Given the description of an element on the screen output the (x, y) to click on. 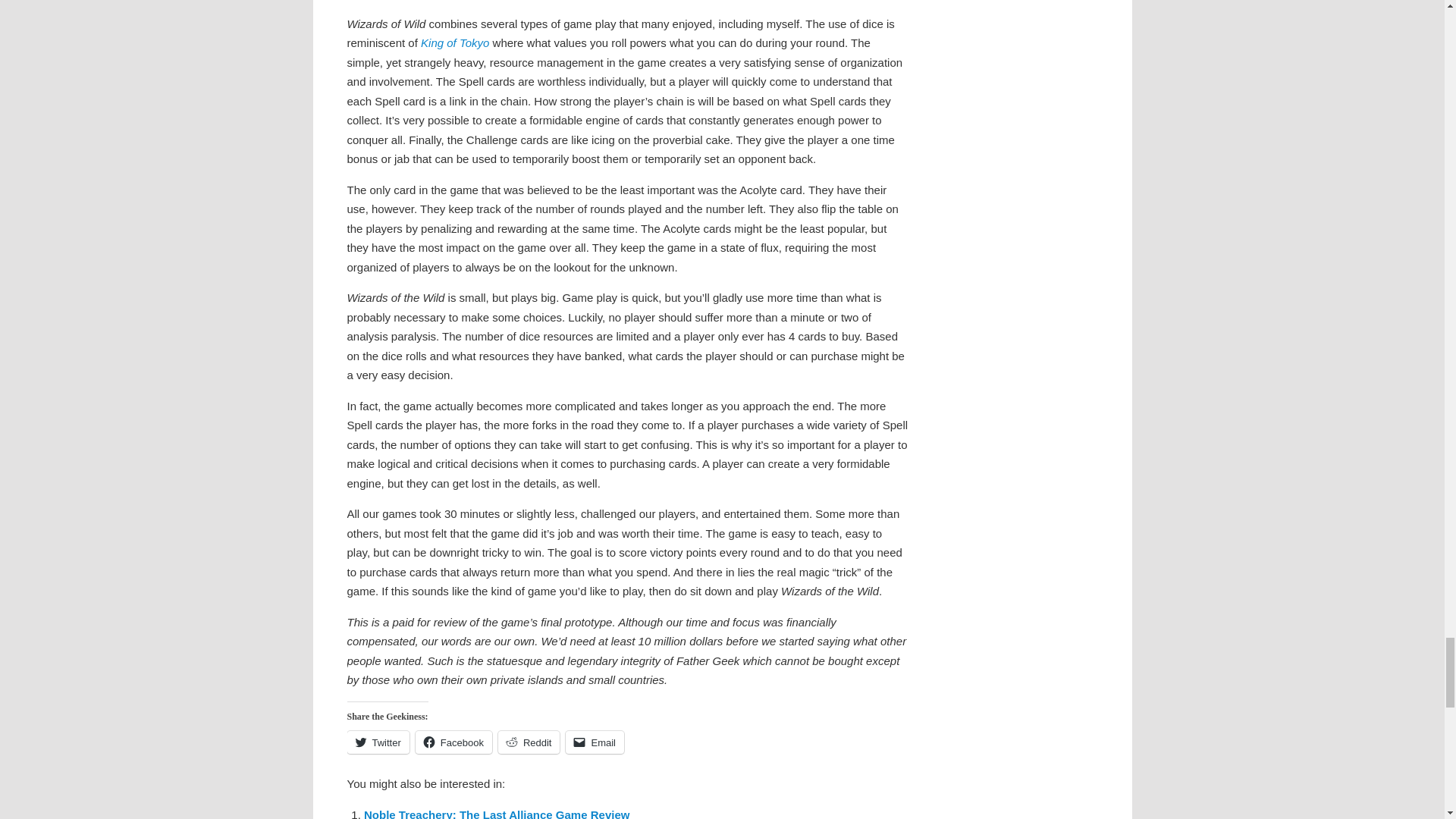
Click to share on Reddit (528, 742)
Click to share on Twitter (378, 742)
Click to share on Facebook (453, 742)
Click to email a link to a friend (595, 742)
Noble Treachery: The Last Alliance Game Review (496, 813)
